Given the description of an element on the screen output the (x, y) to click on. 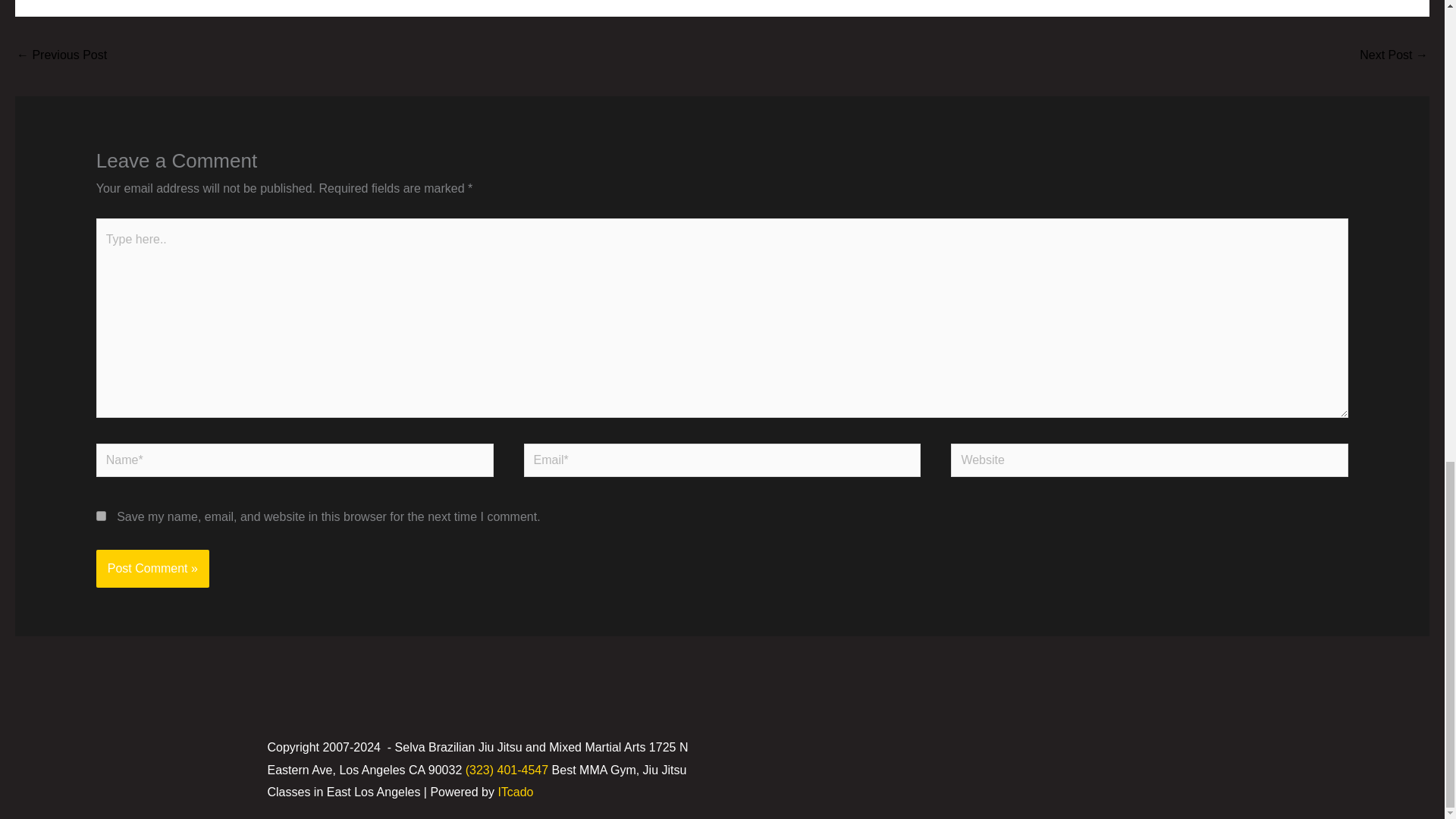
ITcado (514, 791)
Brazilian Jiu-Jitsu Tips: Part 3 (61, 56)
yes (101, 515)
